Given the description of an element on the screen output the (x, y) to click on. 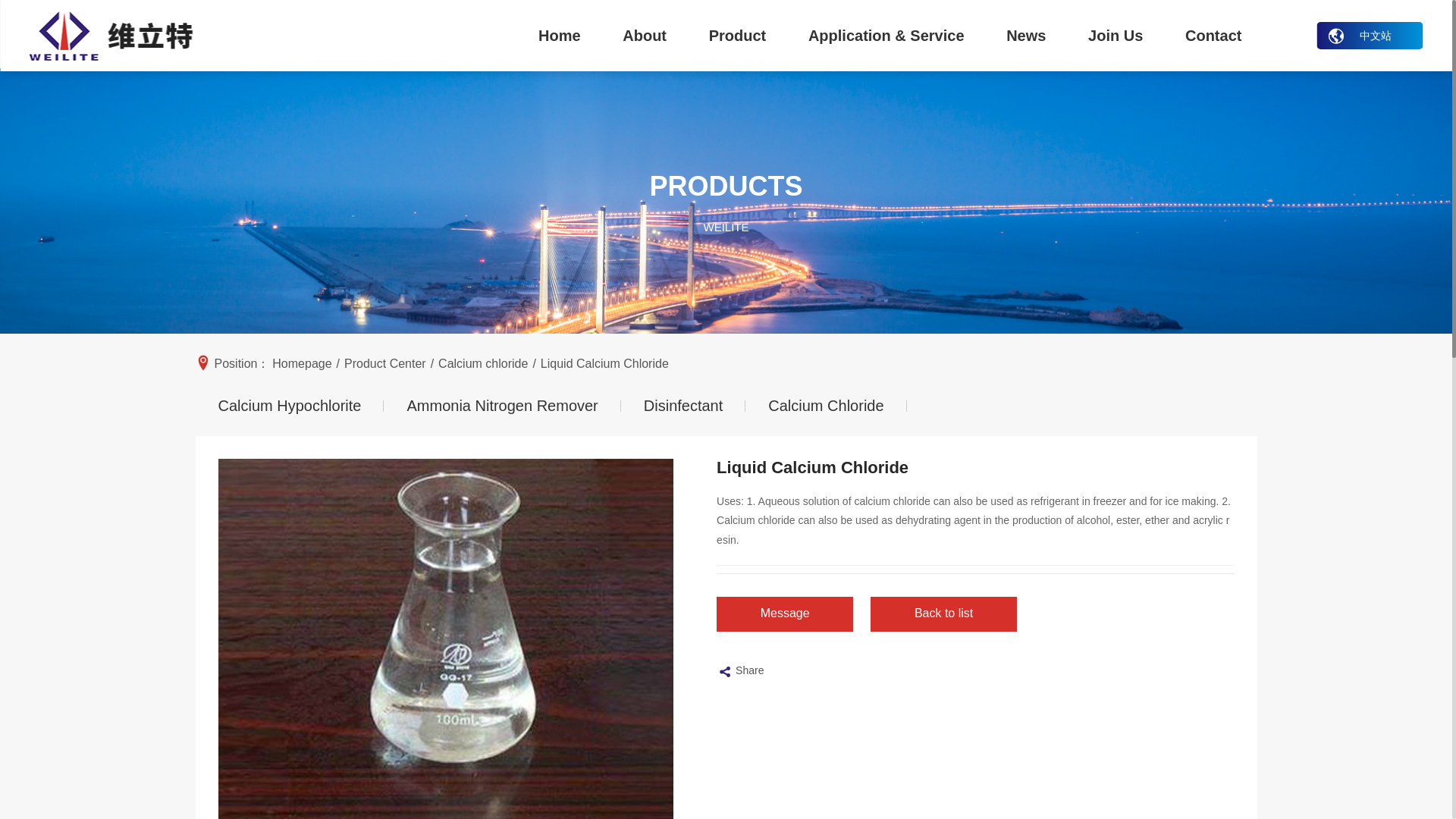
News (1026, 35)
Homepage (301, 363)
Back to list (943, 616)
Disinfectant (683, 405)
About (643, 35)
Contact (1212, 35)
Home (558, 35)
Calcium chloride (825, 405)
Calcium chloride (482, 363)
Calcium Chloride (825, 405)
Product (737, 35)
Weilite Chemical (110, 35)
Product Center (384, 363)
Ammonia Nitrogen Remover (502, 405)
Join Us (1115, 35)
